Given the description of an element on the screen output the (x, y) to click on. 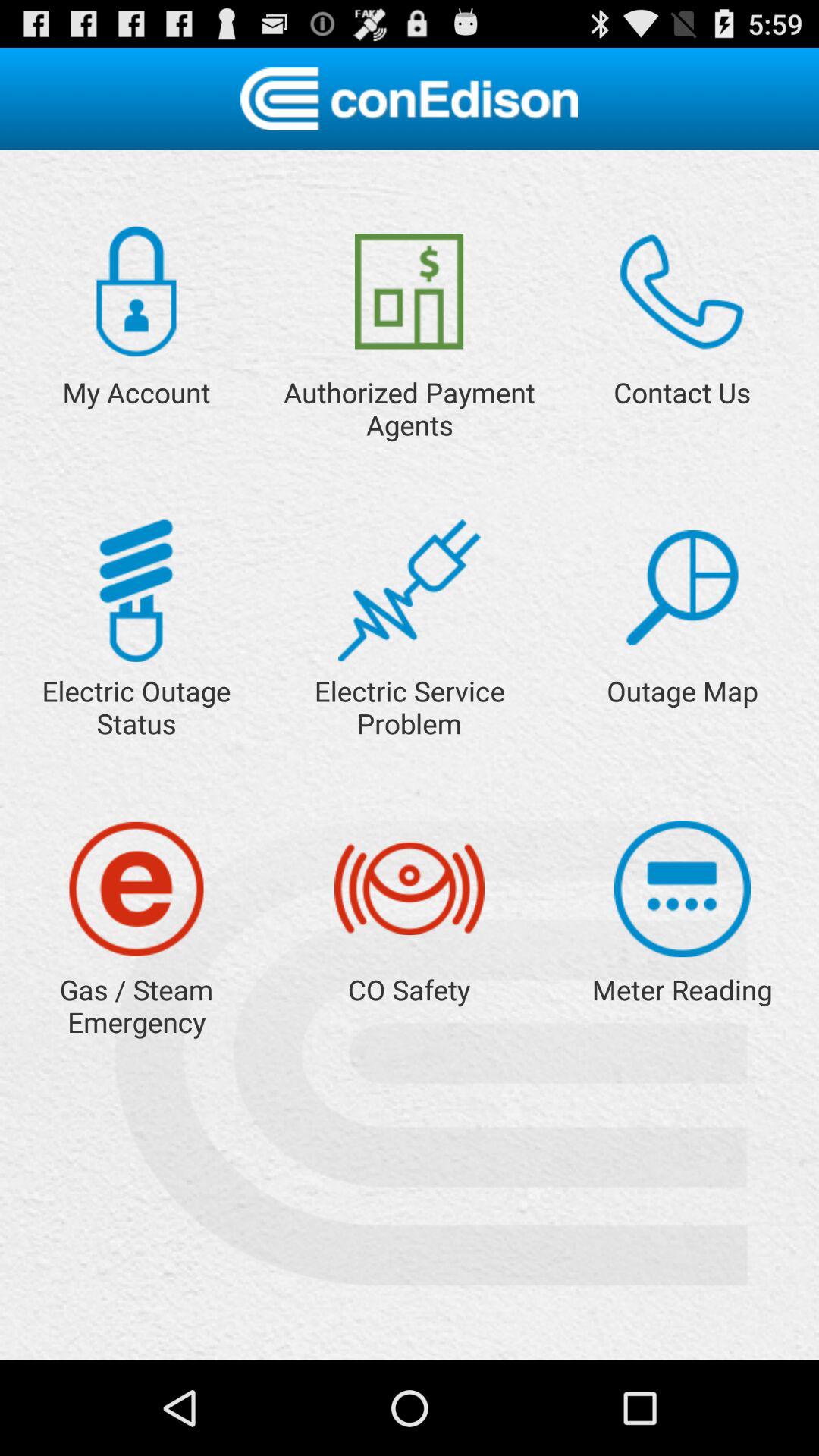
service availability (682, 587)
